Given the description of an element on the screen output the (x, y) to click on. 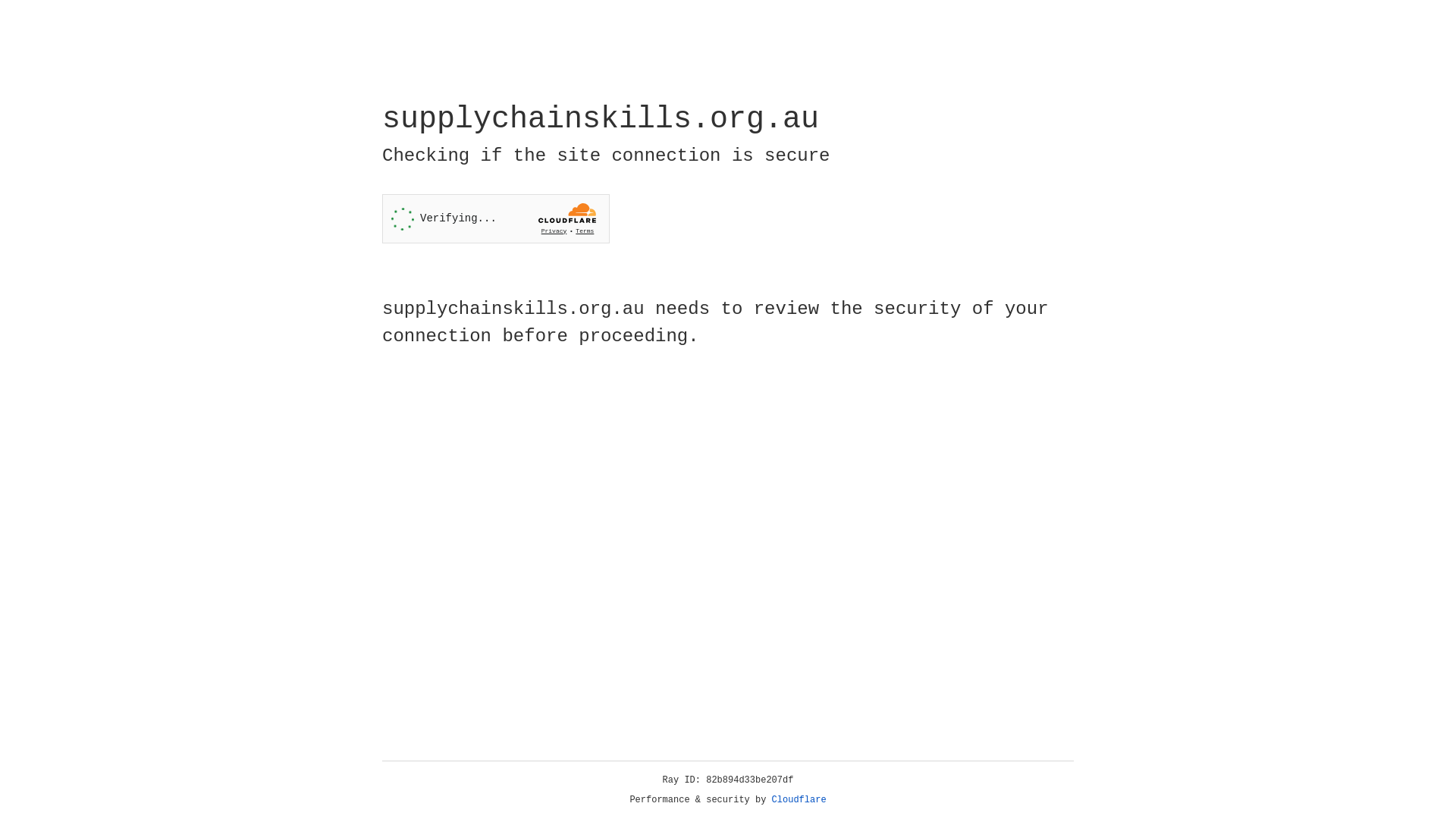
Cloudflare Element type: text (798, 799)
Widget containing a Cloudflare security challenge Element type: hover (495, 218)
